Given the description of an element on the screen output the (x, y) to click on. 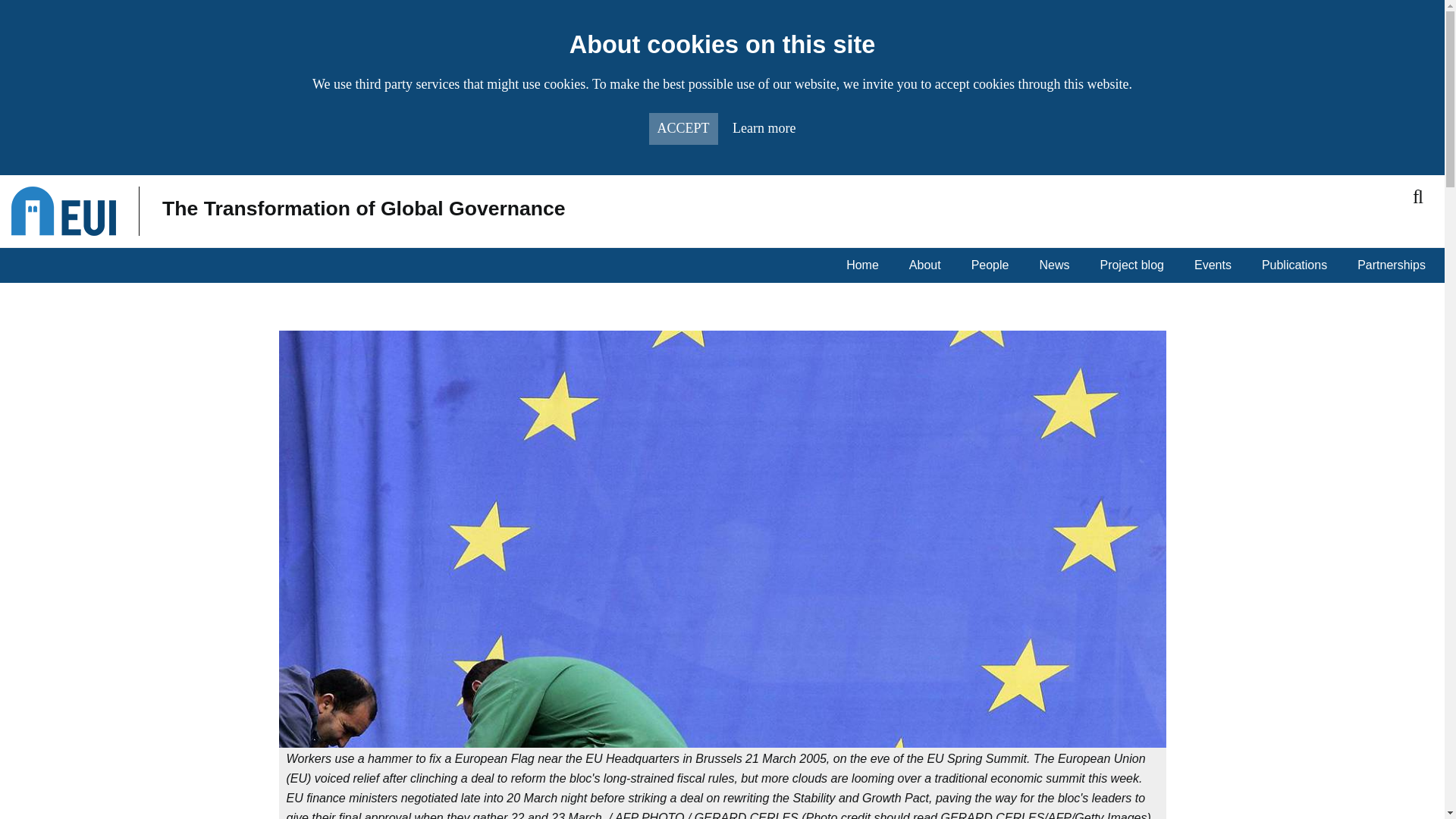
ACCEPT (683, 128)
Events (1216, 265)
News (1058, 265)
About (928, 265)
Home page of The Transformation of Global Governance (363, 208)
Learn more (763, 127)
Publications (1298, 265)
Events (1216, 265)
Publications (1298, 265)
News (1058, 265)
The Transformation of Global Governance (363, 208)
Home (865, 265)
Project blog (1135, 265)
About (928, 265)
Toggle search box (1417, 197)
